Given the description of an element on the screen output the (x, y) to click on. 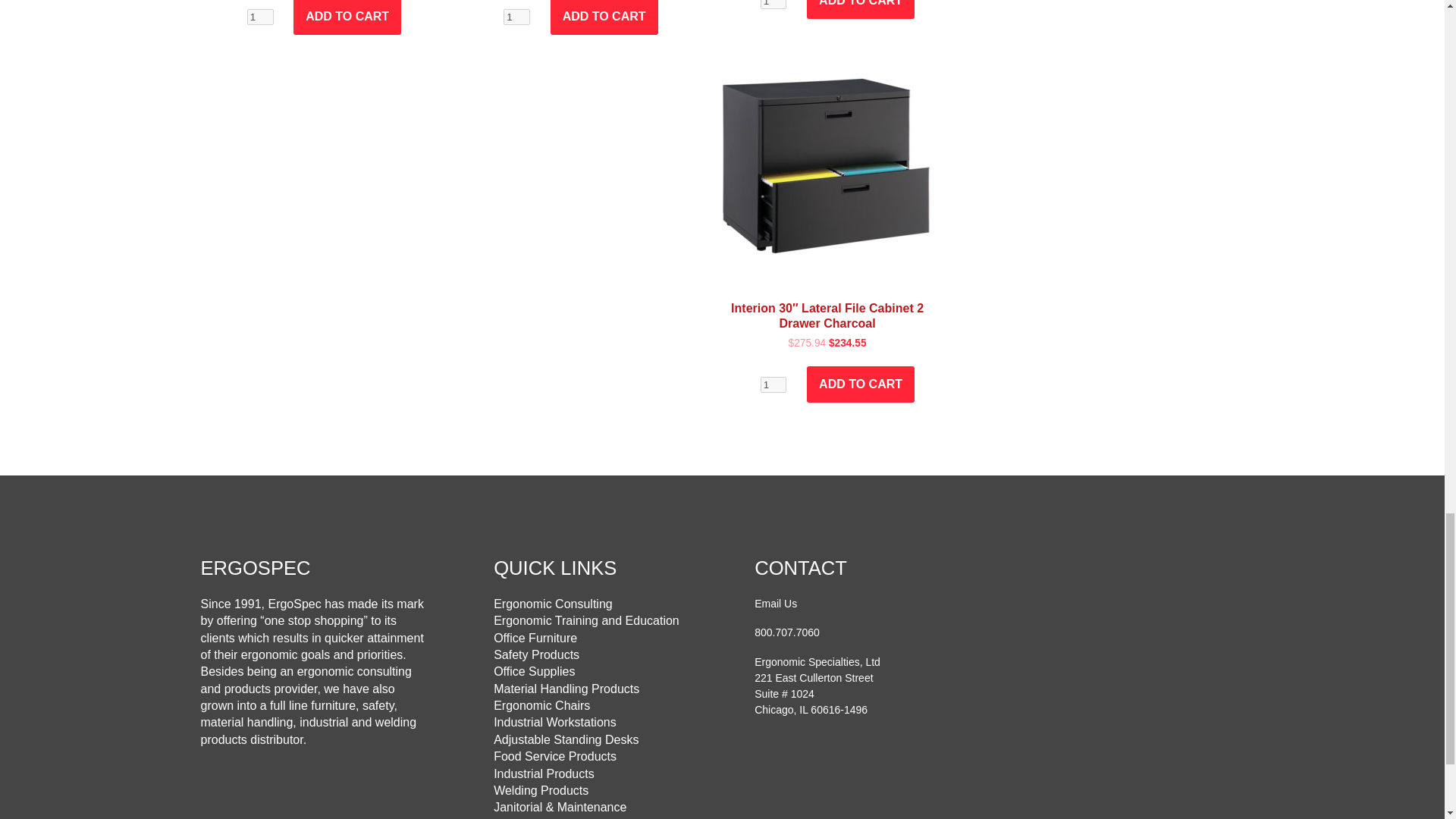
1 (260, 17)
1 (773, 4)
1 (516, 17)
1 (773, 384)
